Given the description of an element on the screen output the (x, y) to click on. 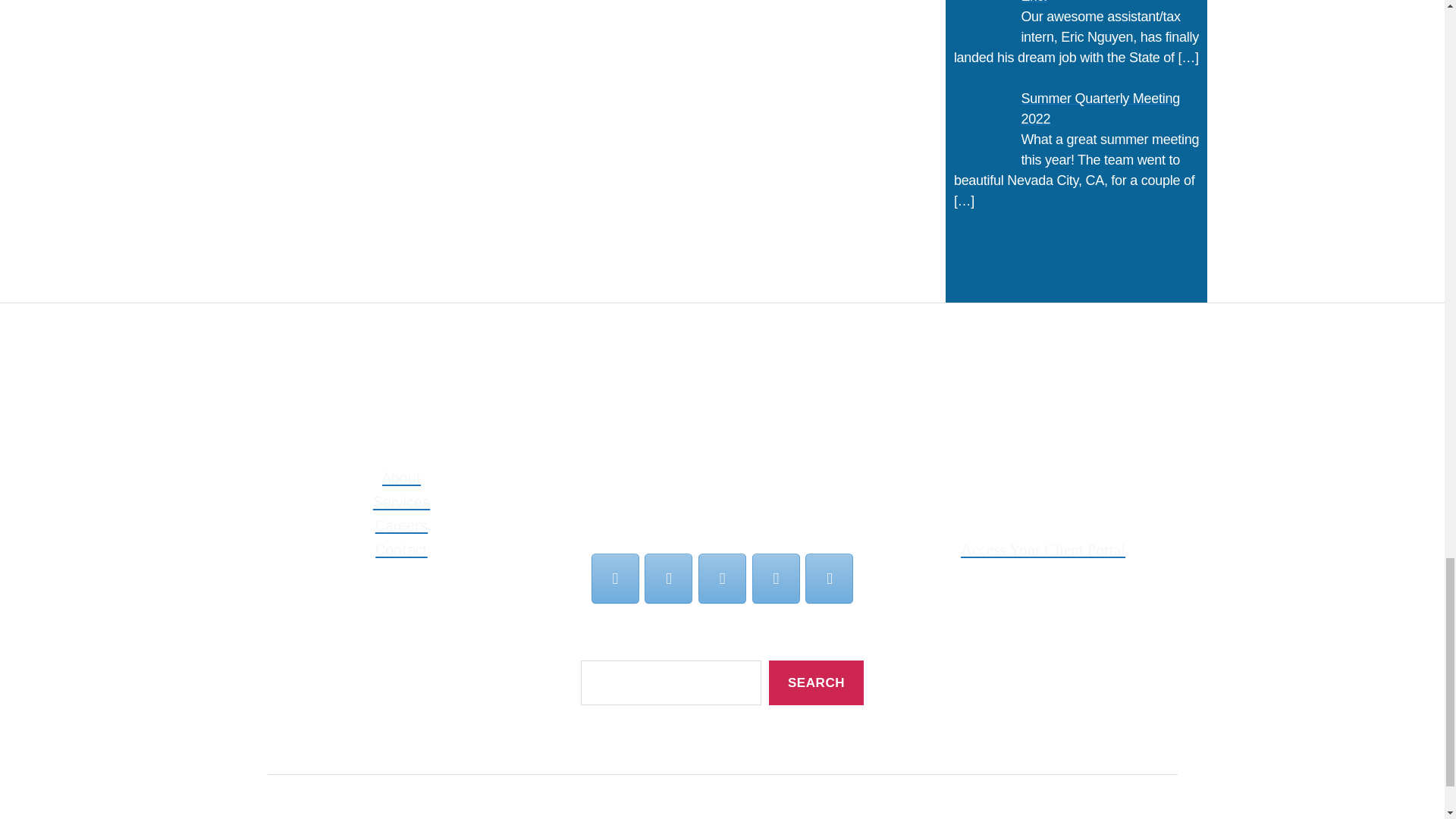
linkedin (721, 578)
yelp (775, 578)
phone (829, 578)
facebook (669, 578)
email (615, 578)
